Given the description of an element on the screen output the (x, y) to click on. 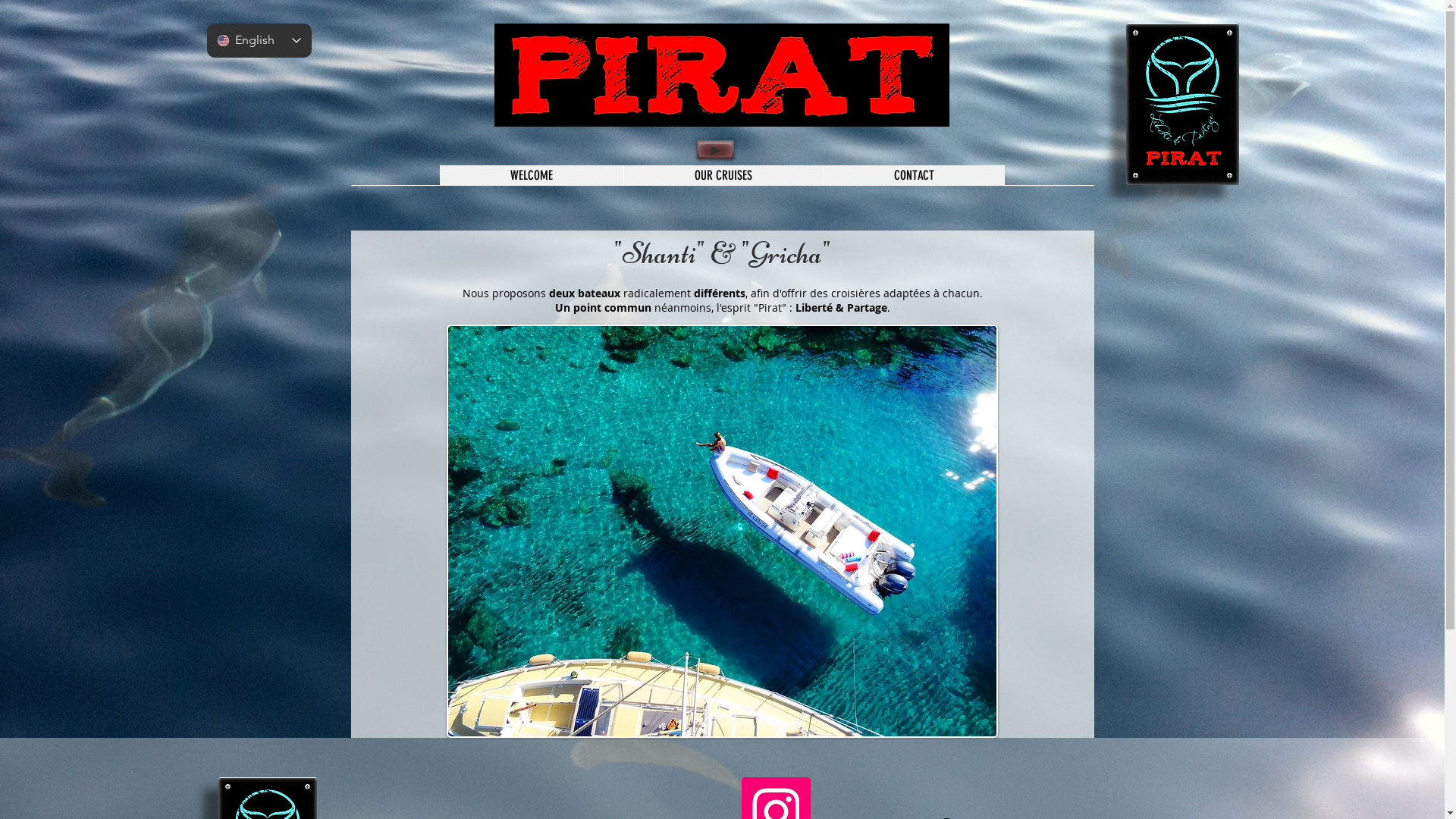
logo transparent background HD.png Element type: hover (1181, 104)
WELCOME Element type: text (531, 175)
Embedded Content Element type: hover (436, 37)
CONTACT Element type: text (913, 175)
